Given the description of an element on the screen output the (x, y) to click on. 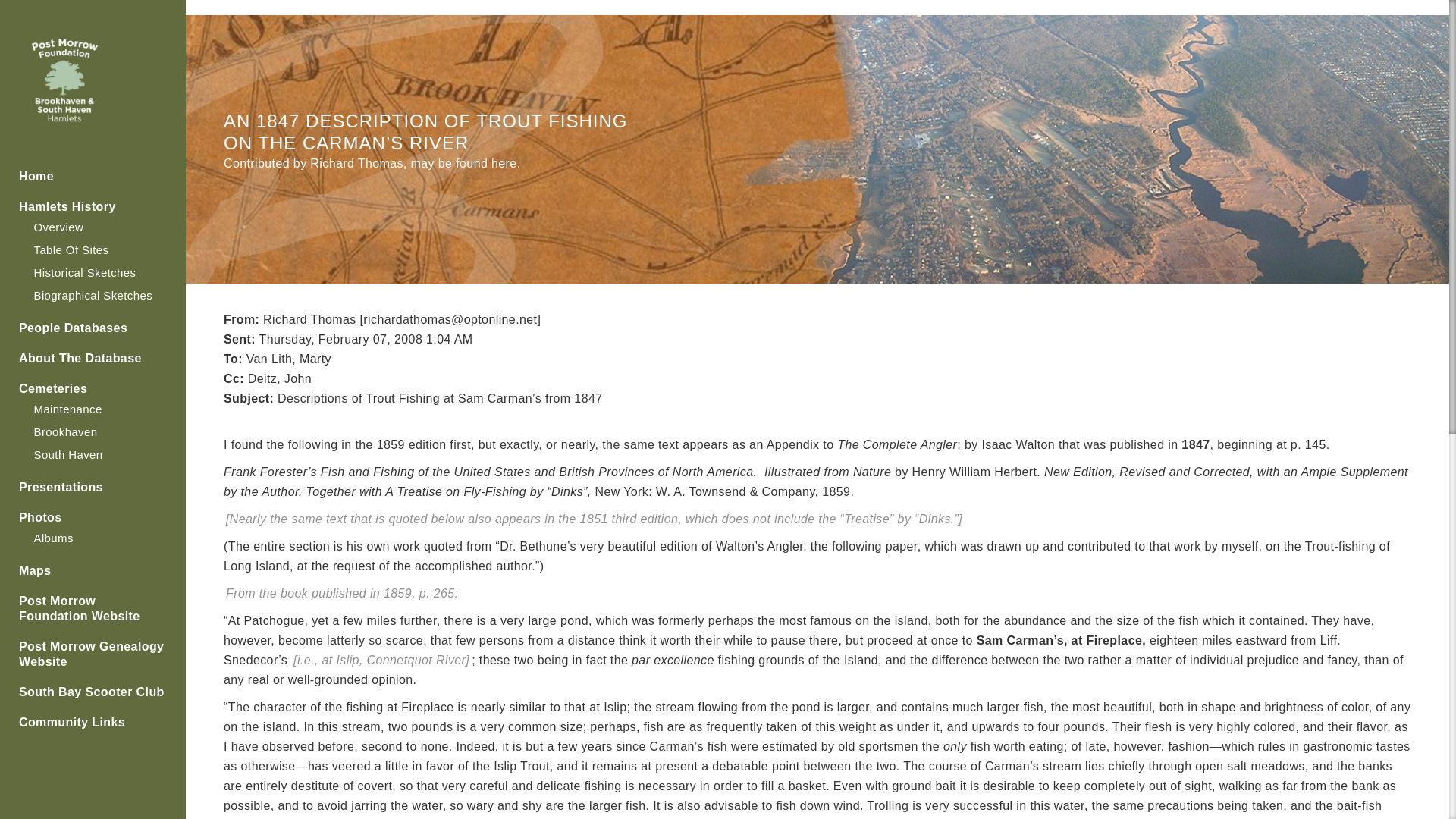
Maps (92, 570)
About The Database (92, 358)
Albums (52, 537)
Maintenance (67, 408)
South Bay Scooter Club (92, 692)
Photos (92, 517)
Cemeteries (92, 388)
Table Of Sites (70, 249)
South Haven (67, 454)
Post Morrow Genealogy Website (92, 654)
Overview (57, 226)
Community Links (92, 722)
Historical Sketches (84, 272)
Brookhaven (65, 431)
Biographical Sketches (92, 295)
